Given the description of an element on the screen output the (x, y) to click on. 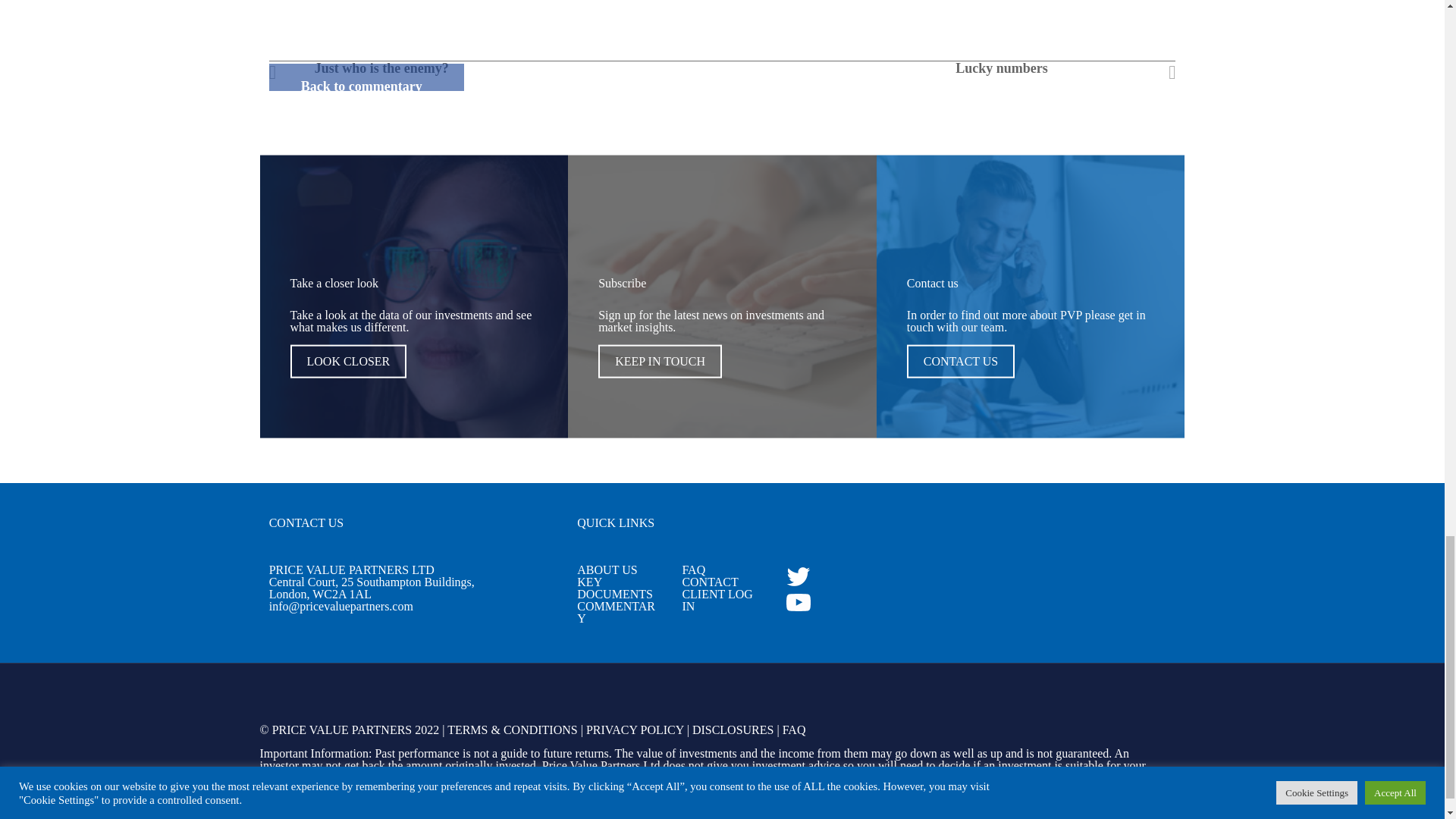
Just who is the enemy? (401, 68)
DISCLOSURES (733, 729)
KEEP IN TOUCH (660, 361)
CLIENT LOG IN (716, 600)
LOOK CLOSER (347, 361)
FAQ (794, 729)
CONTACT (709, 581)
FAQ (692, 569)
COMMENTARY (615, 611)
CONTACT US (960, 361)
Back to commentary (361, 85)
KEY DOCUMENTS (614, 587)
PRIVACY POLICY (635, 729)
ABOUT US (606, 569)
